Given the description of an element on the screen output the (x, y) to click on. 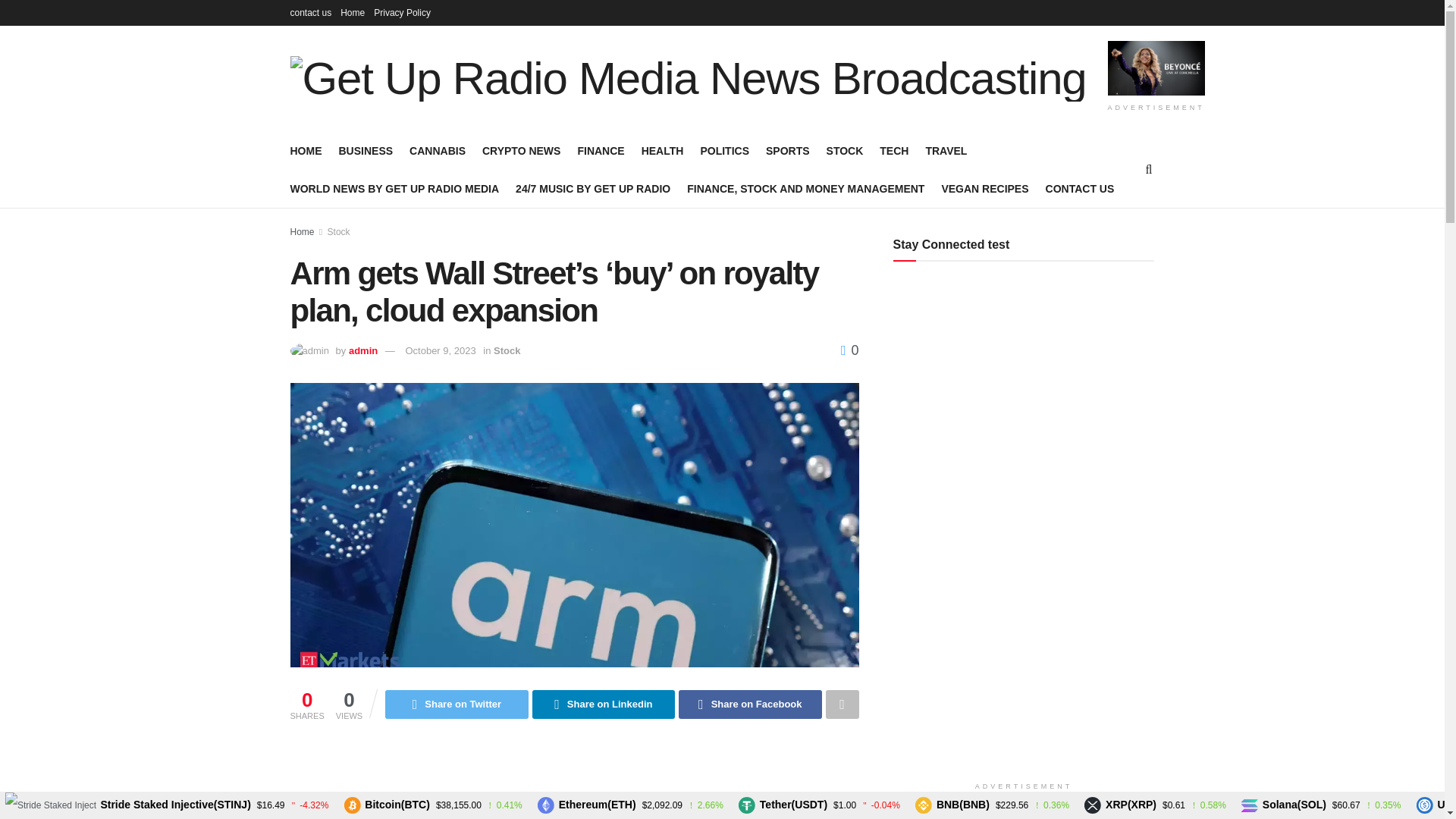
FINANCE (600, 150)
CONTACT US (1080, 188)
TRAVEL (945, 150)
Privacy Policy (402, 12)
TECH (893, 150)
CANNABIS (437, 150)
HOME (305, 150)
WORLD NEWS BY GET UP RADIO MEDIA (394, 188)
contact us (310, 12)
SPORTS (787, 150)
STOCK (845, 150)
FINANCE, STOCK AND MONEY MANAGEMENT (805, 188)
HEALTH (663, 150)
VEGAN RECIPES (983, 188)
Home (352, 12)
